Given the description of an element on the screen output the (x, y) to click on. 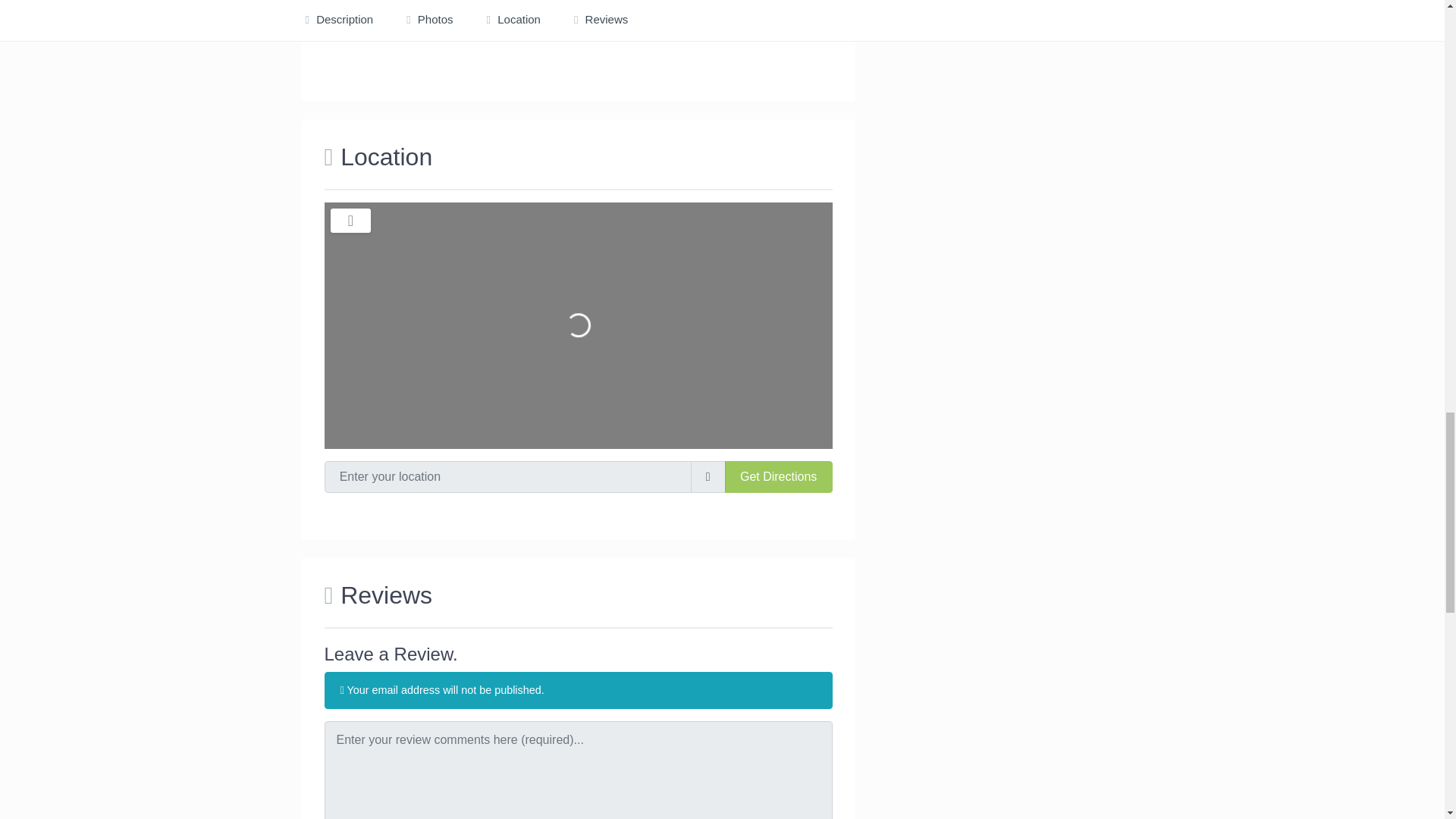
Get Directions (778, 477)
use my location (707, 477)
